Given the description of an element on the screen output the (x, y) to click on. 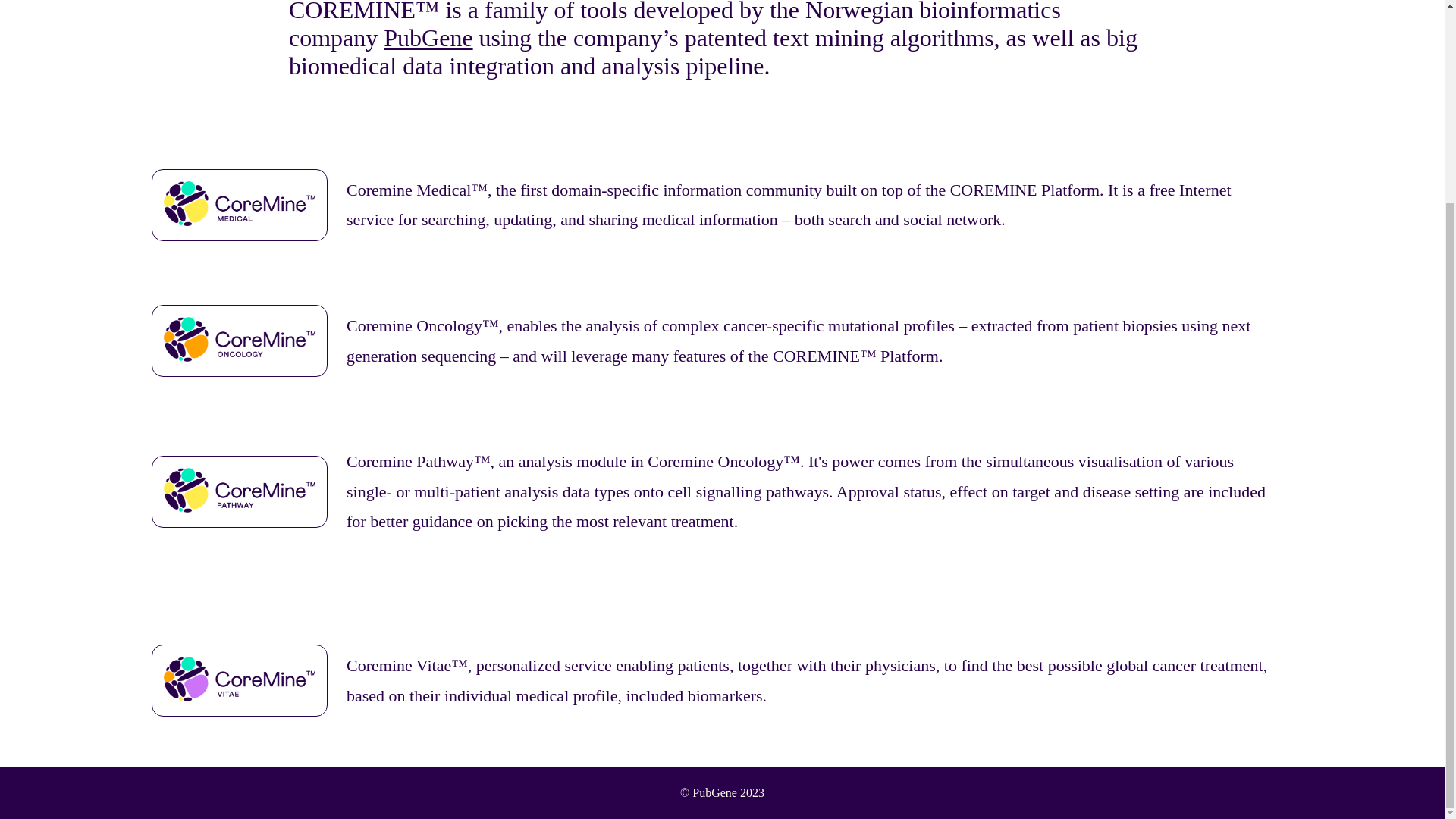
PubGene (427, 37)
